Given the description of an element on the screen output the (x, y) to click on. 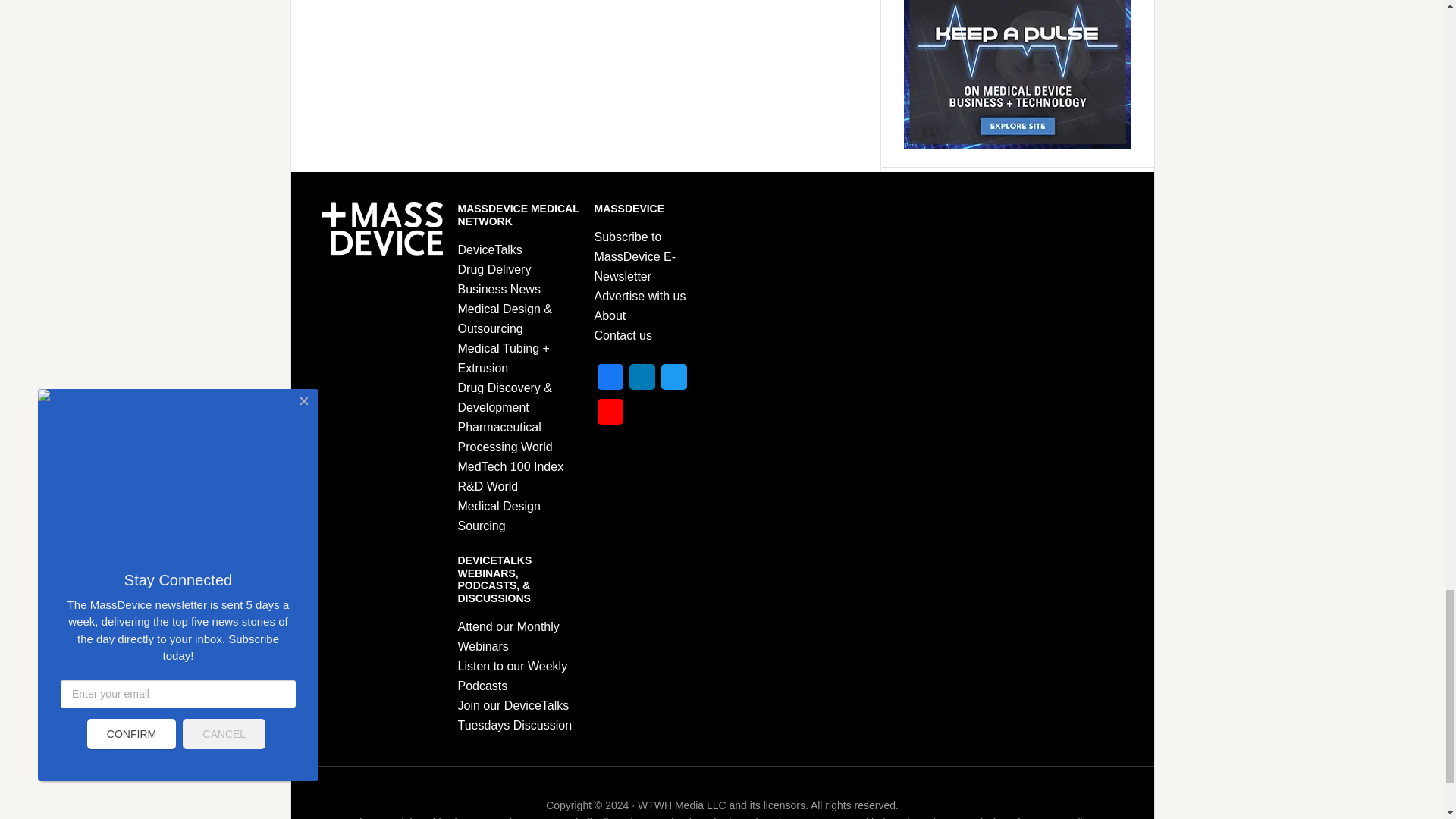
Facebook (610, 380)
LinkedIn Company (642, 380)
YouTube Channel (610, 416)
Twitter (674, 380)
